Given the description of an element on the screen output the (x, y) to click on. 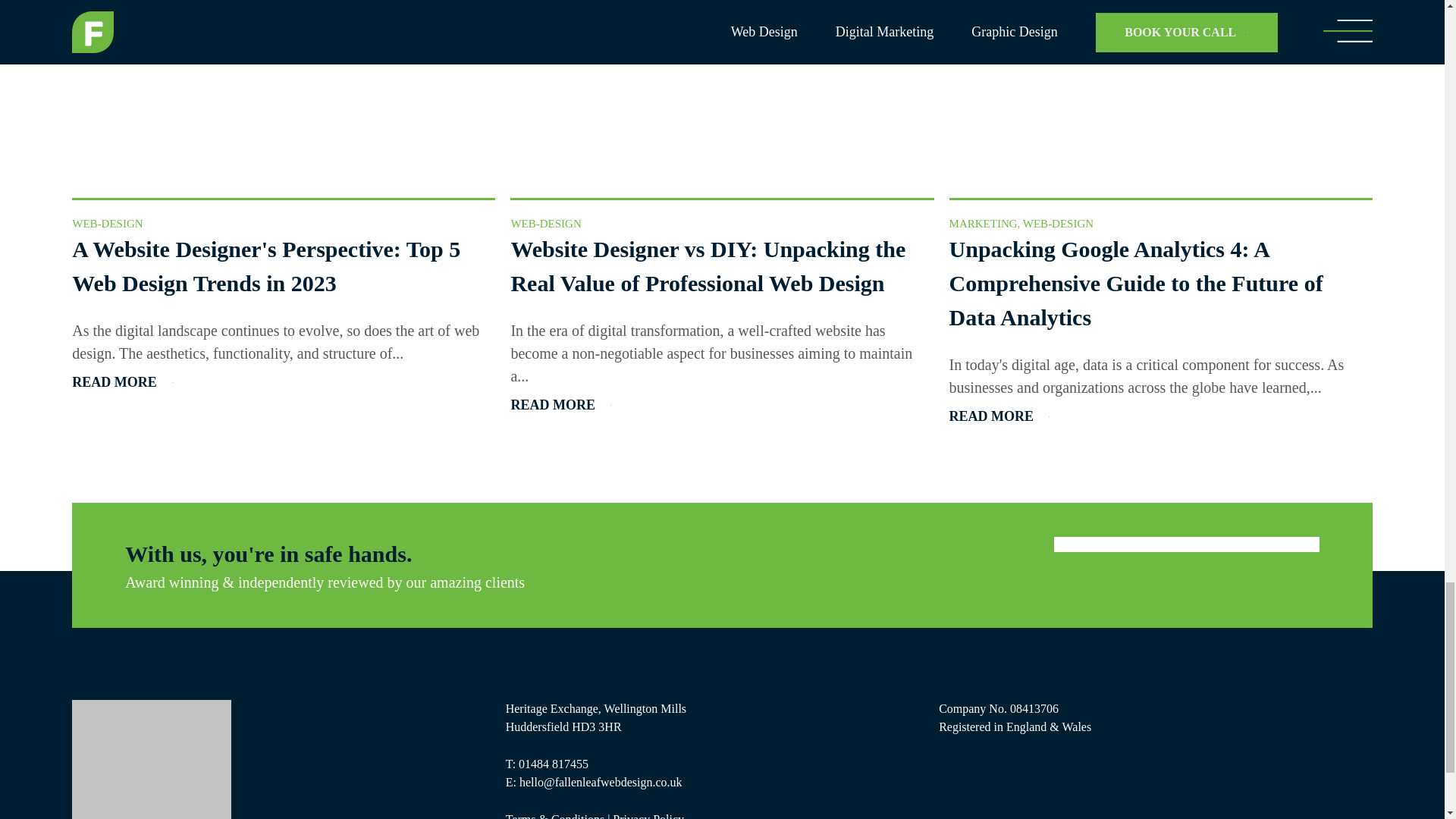
READ MORE (122, 382)
READ MORE (561, 404)
Privacy Policy (648, 816)
READ MORE (999, 416)
01484 817455 (553, 763)
